Given the description of an element on the screen output the (x, y) to click on. 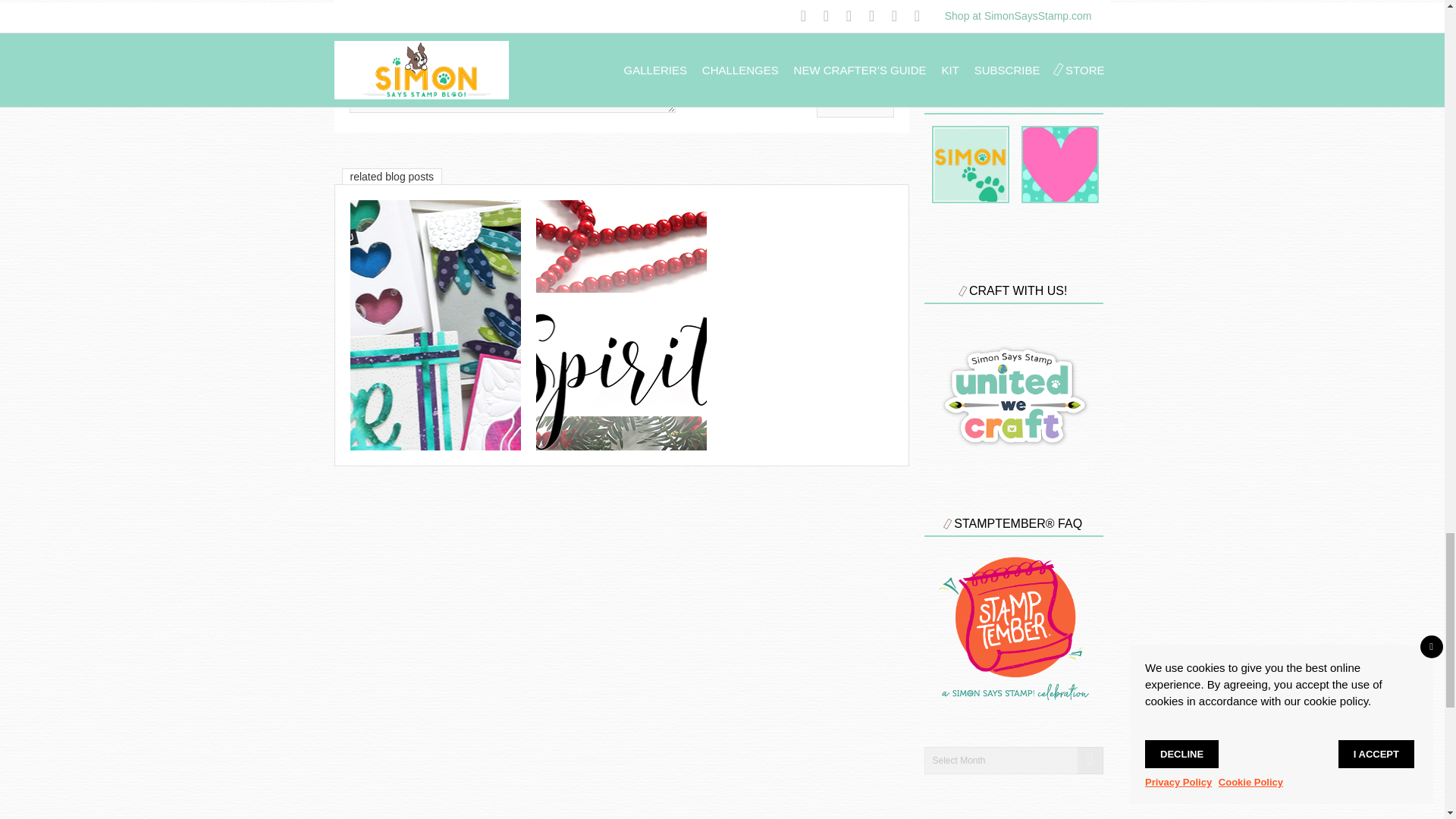
Post Comment (854, 103)
